Given the description of an element on the screen output the (x, y) to click on. 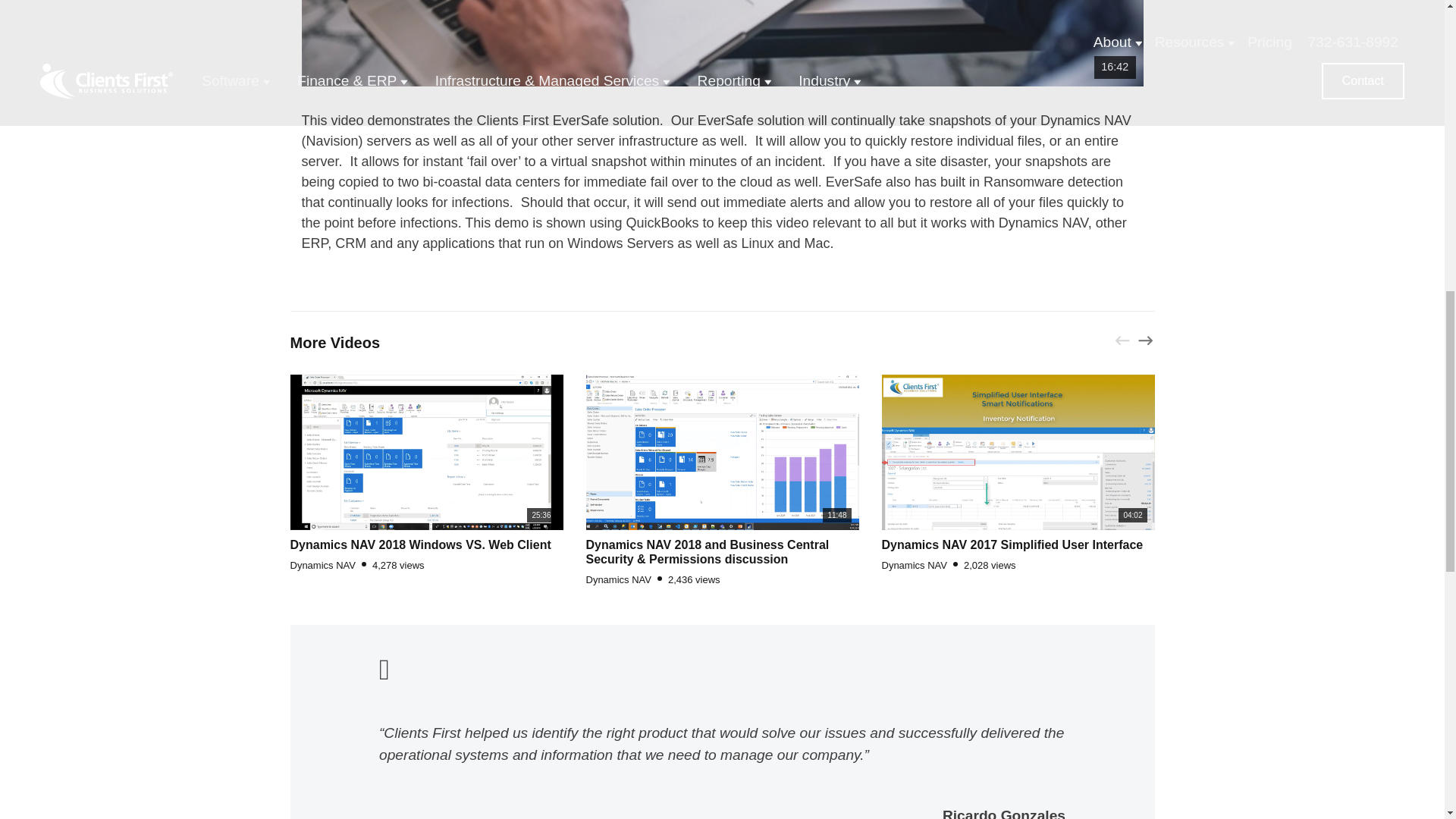
Play Video (721, 42)
